Given the description of an element on the screen output the (x, y) to click on. 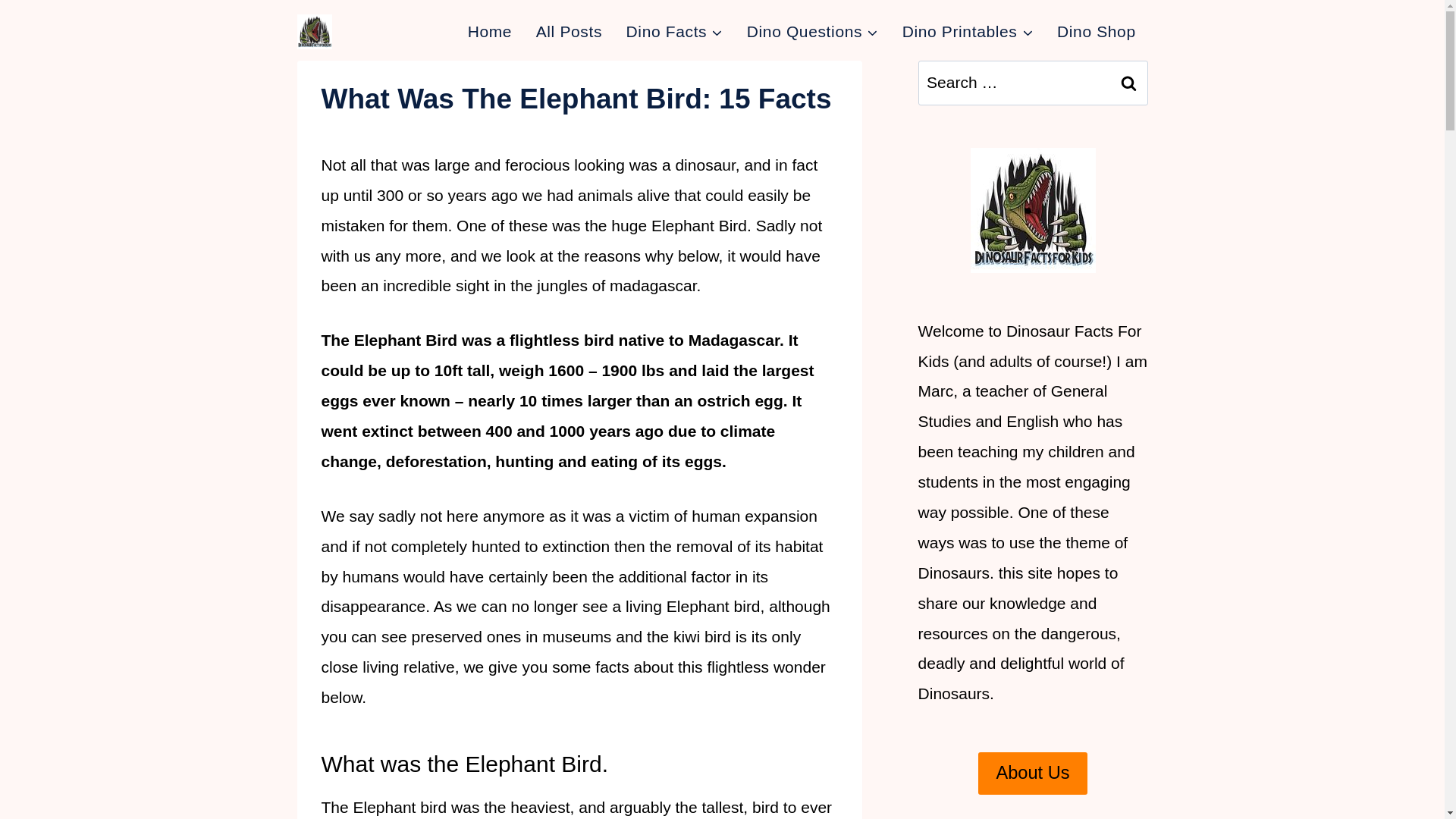
Home (489, 31)
Dino Printables (967, 31)
All Posts (569, 31)
Dino Facts (674, 31)
Dino Questions (812, 31)
Dino Shop (1096, 31)
